Given the description of an element on the screen output the (x, y) to click on. 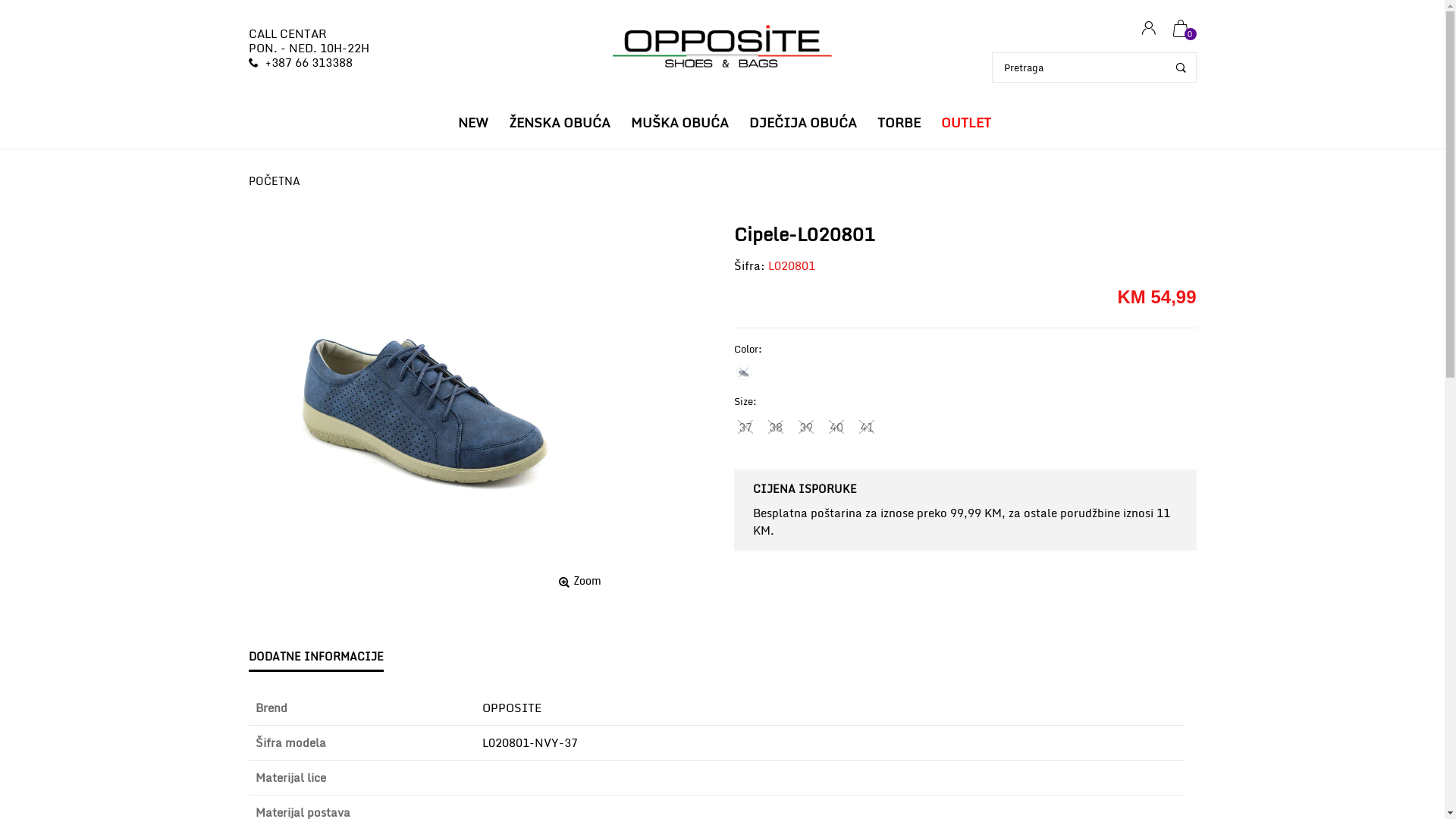
TORBE Element type: text (898, 122)
38 Element type: text (775, 426)
DODATNE INFORMACIJE Element type: text (315, 656)
OUTLET Element type: text (965, 122)
40 Element type: text (836, 426)
37 Element type: text (745, 426)
+387 66 313388 Element type: text (308, 62)
Opposite doo Element type: hover (721, 47)
NVY Element type: hover (743, 372)
0 Element type: text (1179, 28)
39 Element type: text (805, 426)
Moj nalog Element type: hover (1147, 28)
41 Element type: text (866, 426)
Zoom Element type: text (579, 580)
NEW Element type: text (472, 122)
